Given the description of an element on the screen output the (x, y) to click on. 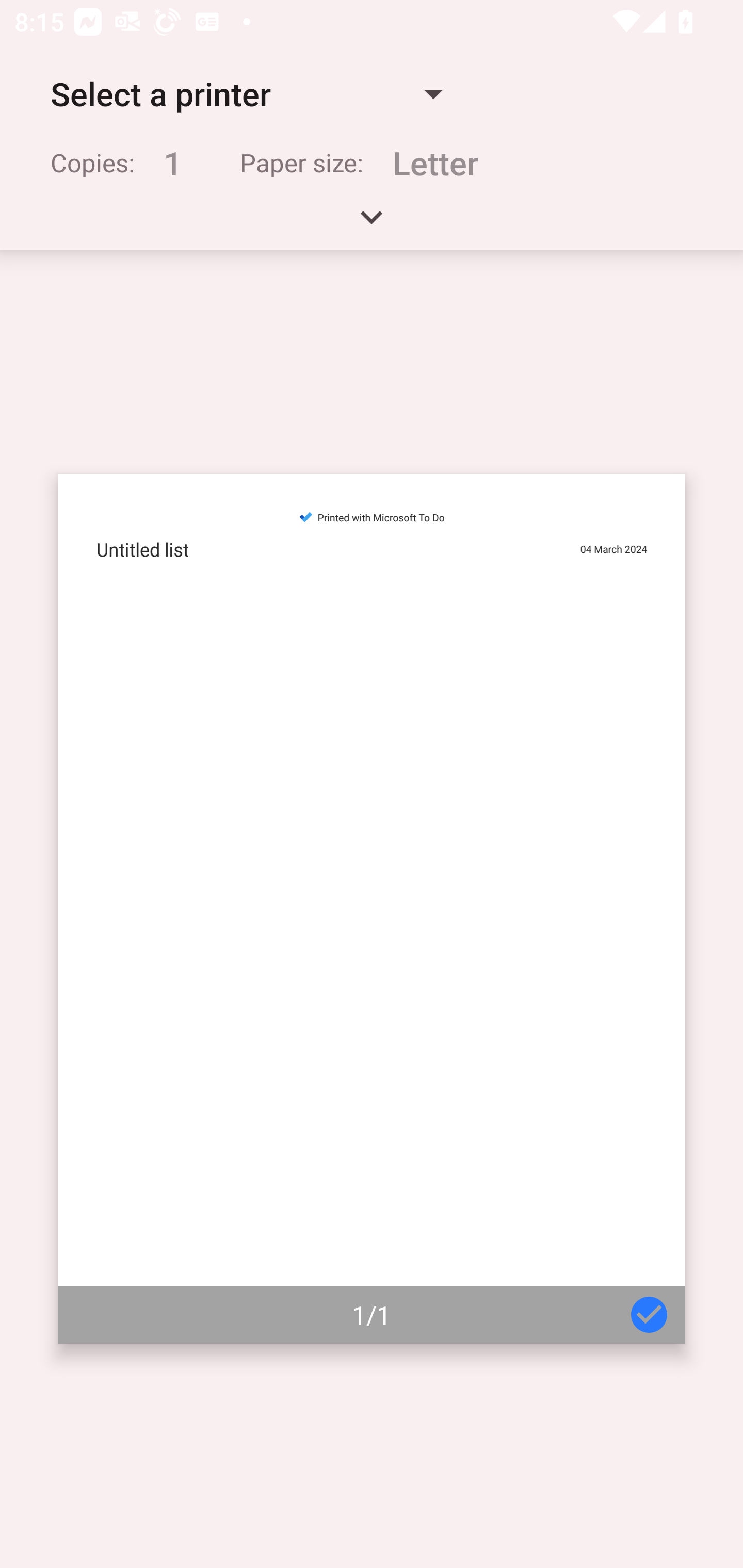
Select a printer (245, 93)
Expand handle (371, 224)
Page 1 of 1 1/1 (371, 908)
